Given the description of an element on the screen output the (x, y) to click on. 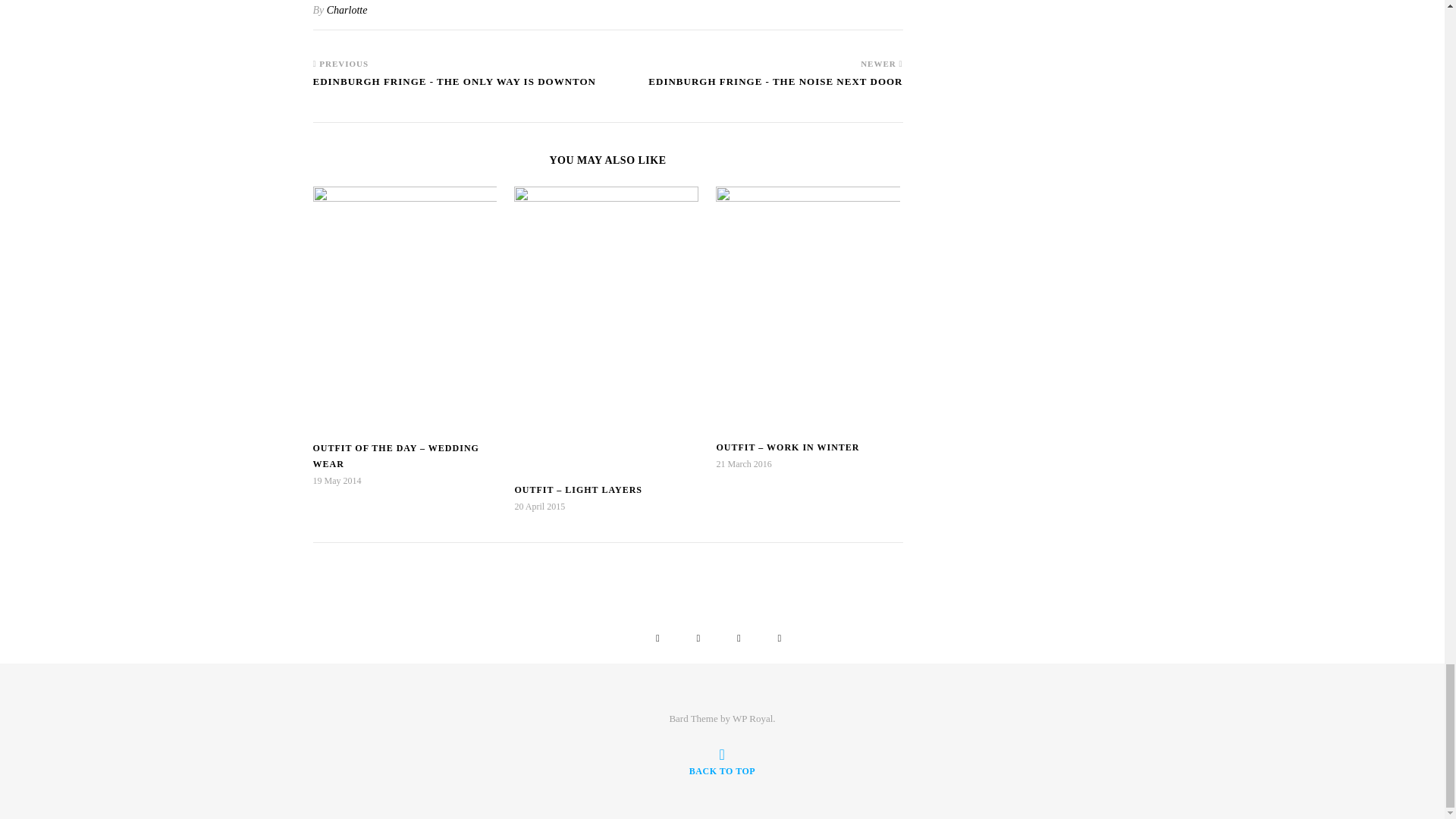
Posts by Charlotte (347, 9)
Edinburgh Fringe - The Only Way Is Downton (454, 88)
BACK TO TOP (722, 761)
Edinburgh Fringe - The Noise Next Door (774, 88)
